Given the description of an element on the screen output the (x, y) to click on. 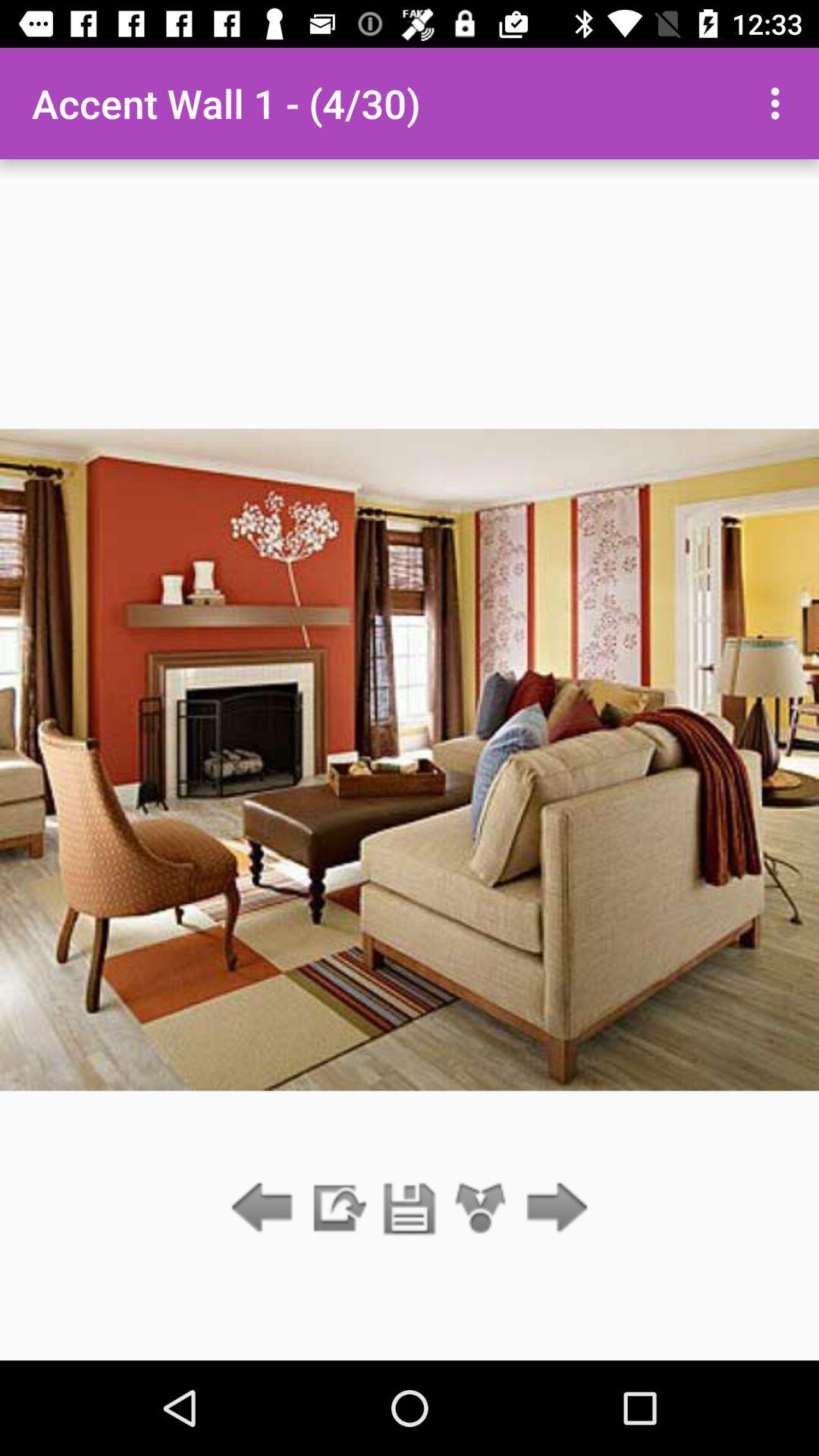
tap the app below the accent wall 1 (409, 1208)
